Given the description of an element on the screen output the (x, y) to click on. 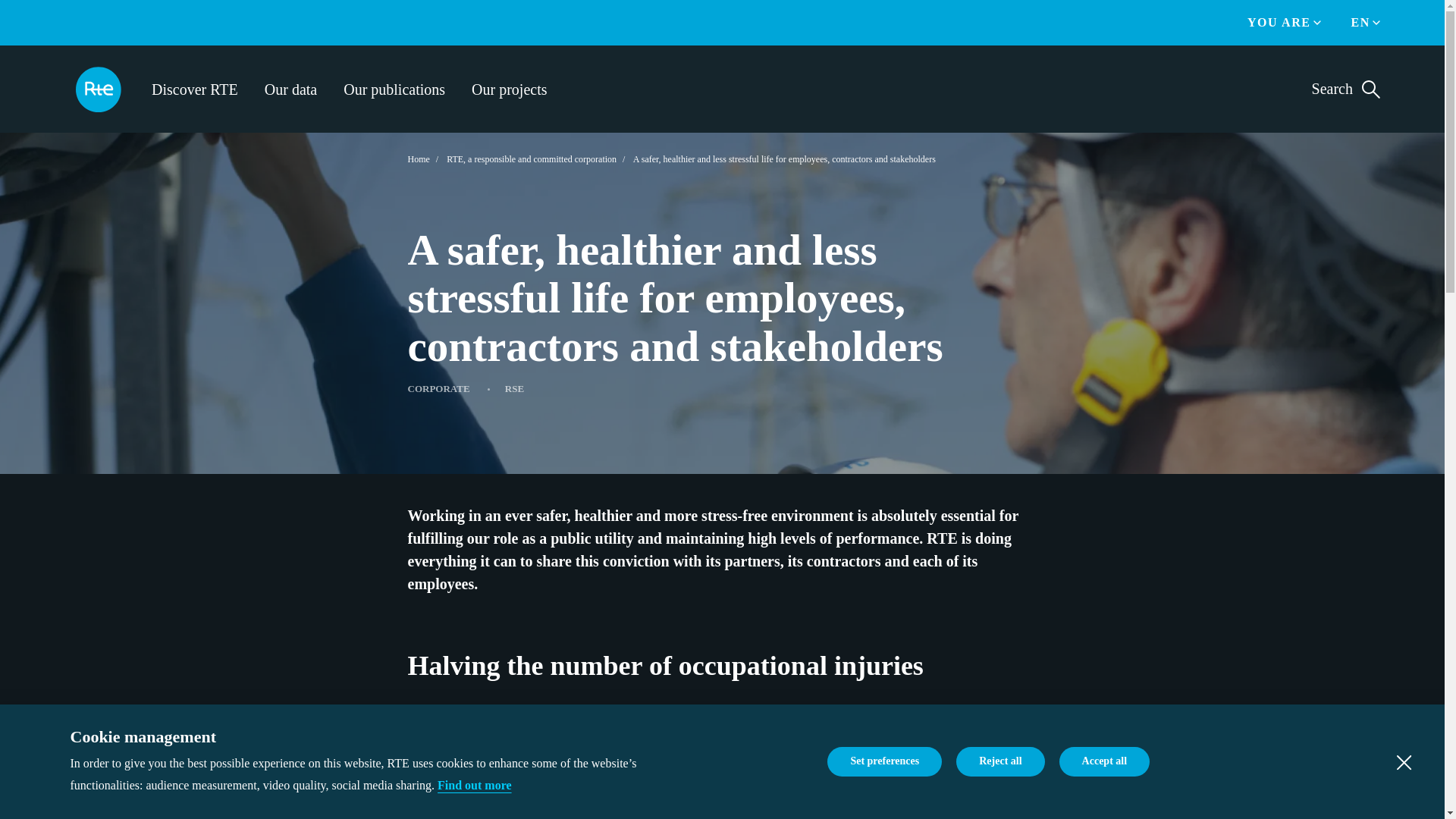
EN (1360, 22)
YOU ARE (1279, 22)
Discover RTE (194, 88)
Our data (290, 88)
Logo RTE Created with Sketch. (97, 87)
Our publications (394, 88)
Logo RTE Created with Sketch. (97, 89)
Our projects (509, 88)
